Given the description of an element on the screen output the (x, y) to click on. 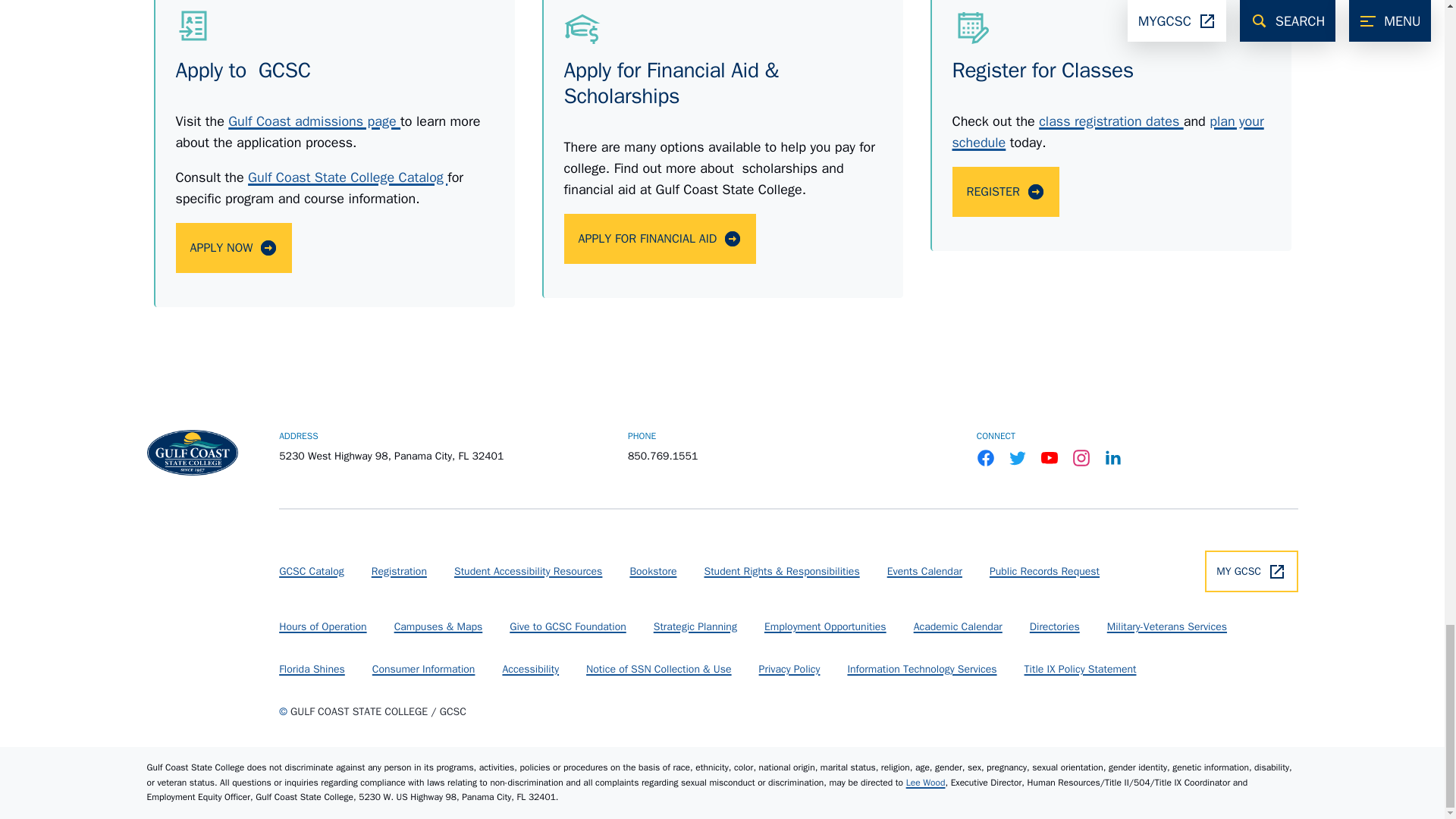
APPLY NOW (234, 247)
REGISTER (1005, 192)
Gulf Coast State College LinkedIn (1112, 457)
Go to Gulf Coast State College Instagram (1080, 457)
Gulf Coast State College Instagram (1080, 457)
Gulf Coast State College Catalog  (346, 176)
Go to Gulf Coast State College Facebook (985, 457)
plan your schedule (1107, 131)
GCSC Catalog (311, 570)
Gulf Coast State College YouTube (1049, 457)
Gulf Coast admissions page (314, 121)
MY GCSC (1251, 571)
Gulf Coast State College Catalog (346, 176)
Gulf Coast admissions page (314, 121)
Go To Gulf Coast State College Homepage (192, 452)
